Given the description of an element on the screen output the (x, y) to click on. 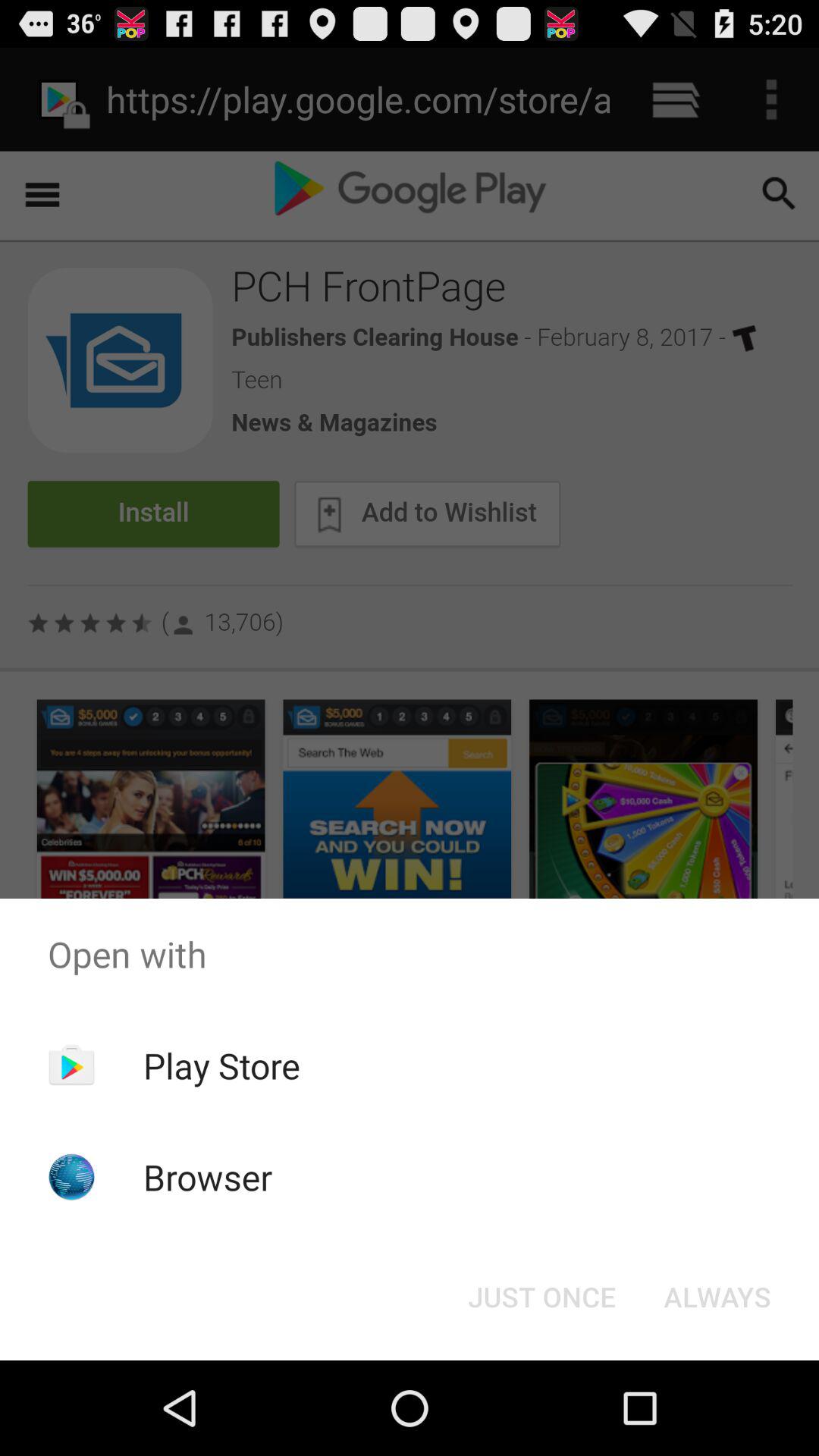
turn on item next to just once (717, 1296)
